Given the description of an element on the screen output the (x, y) to click on. 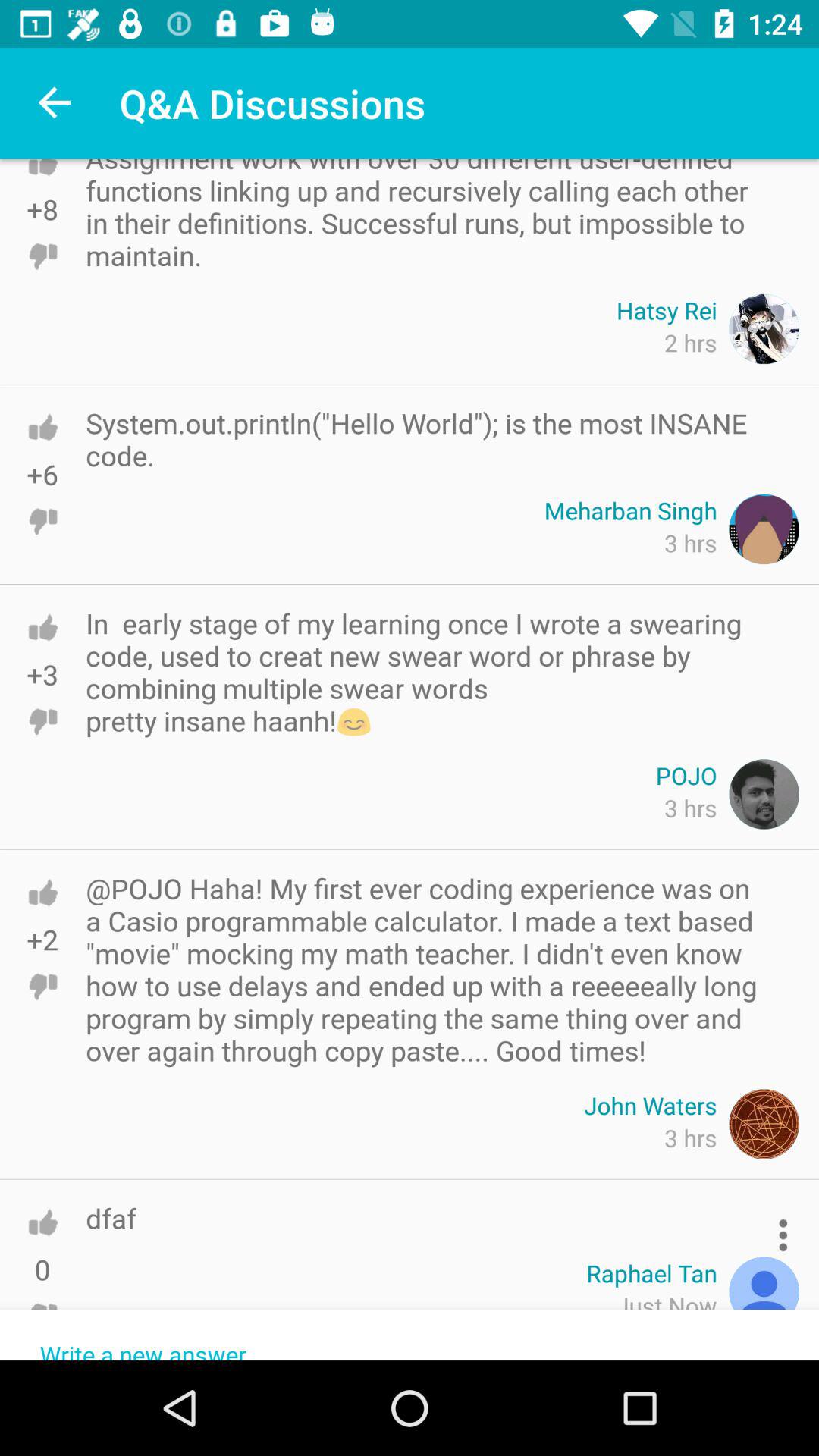
upvote the comment (42, 1222)
